Given the description of an element on the screen output the (x, y) to click on. 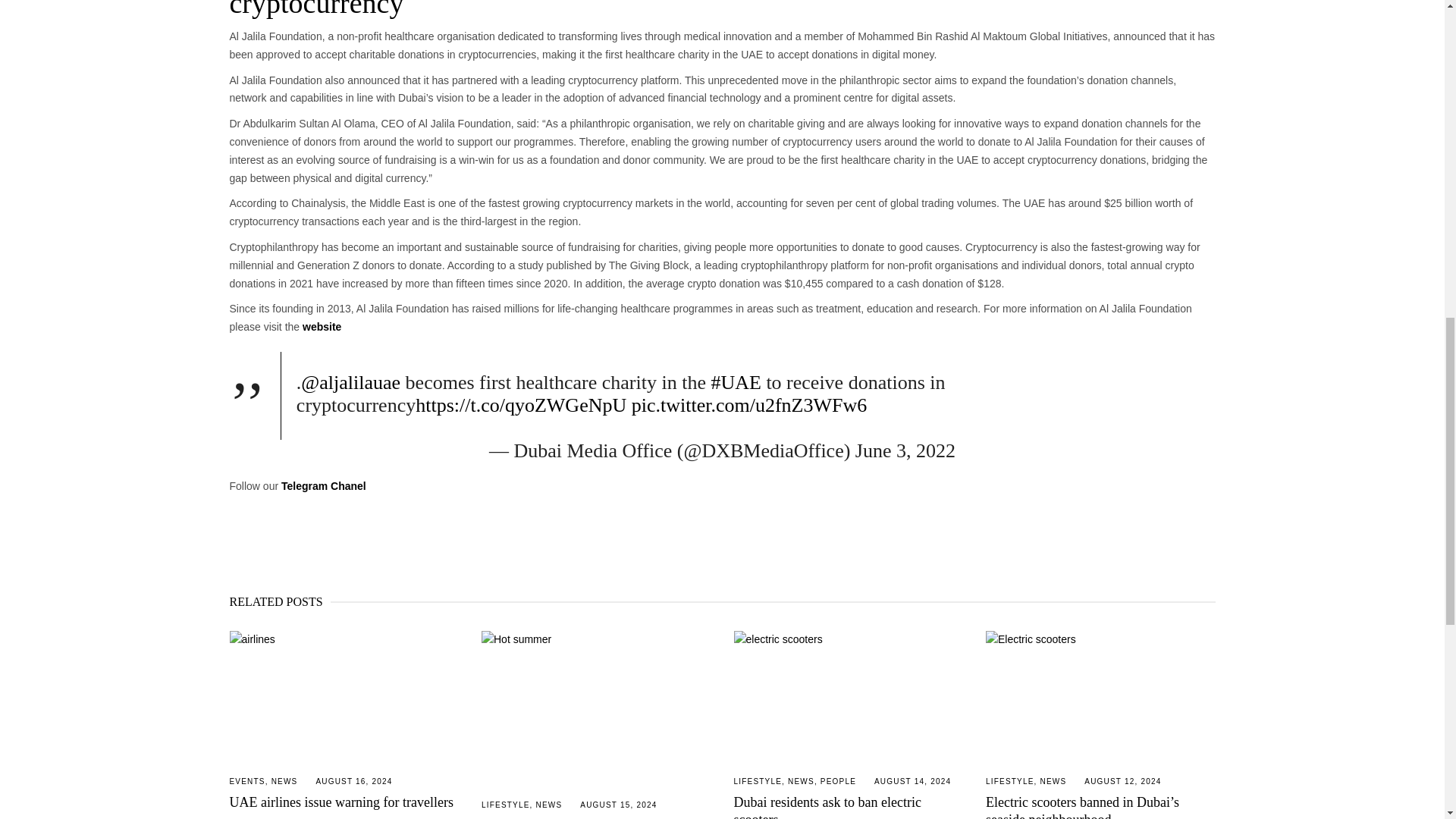
website (321, 326)
UAE airlines issue warning for travellers (343, 695)
Dubai residents ask to ban electric scooters (827, 806)
Dubai residents ask to ban electric scooters (848, 695)
UAE airlines issue warning for travellers (340, 801)
Hot summer comes to an end in UAE (596, 706)
